Given the description of an element on the screen output the (x, y) to click on. 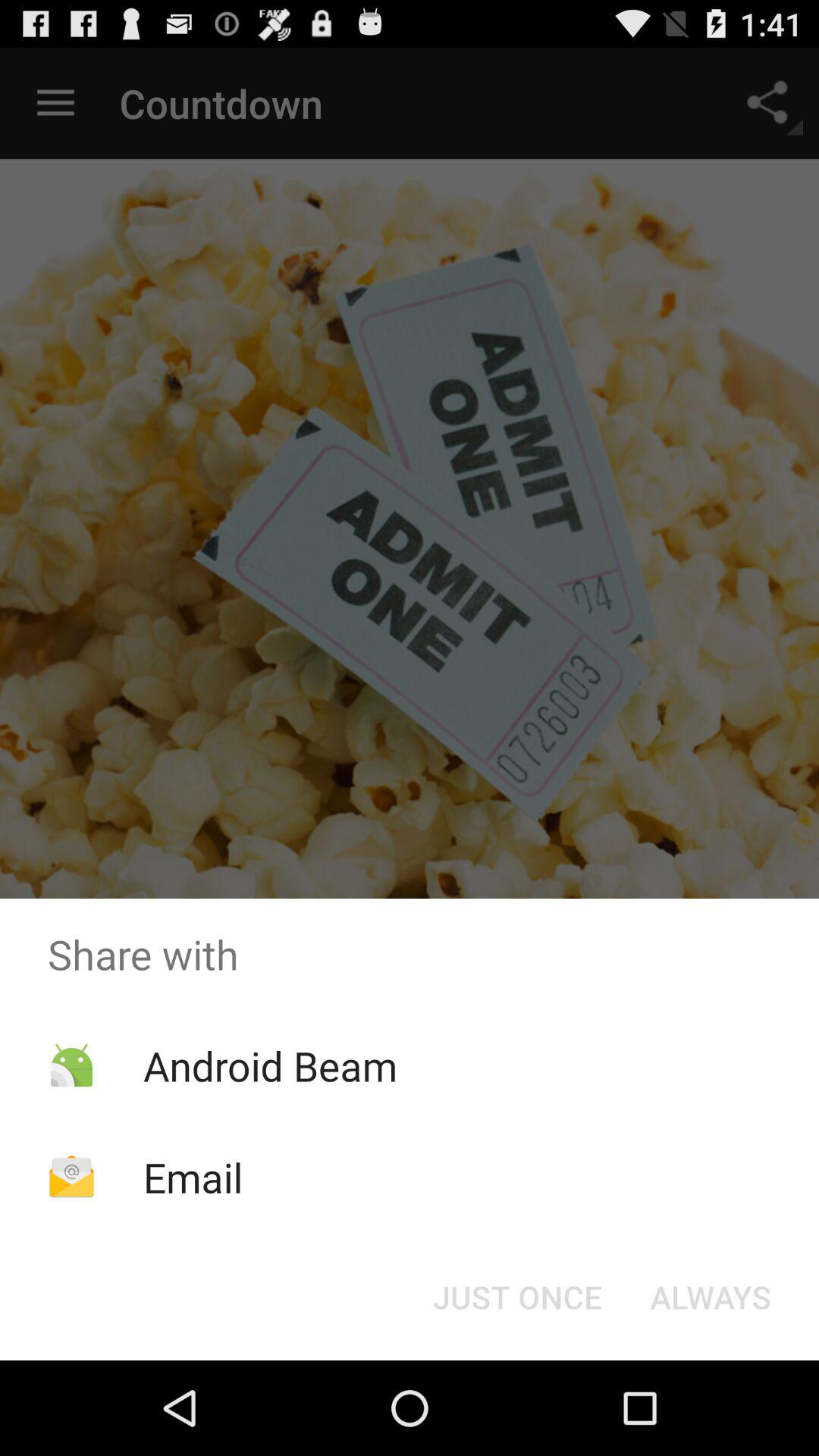
open just once icon (517, 1296)
